Given the description of an element on the screen output the (x, y) to click on. 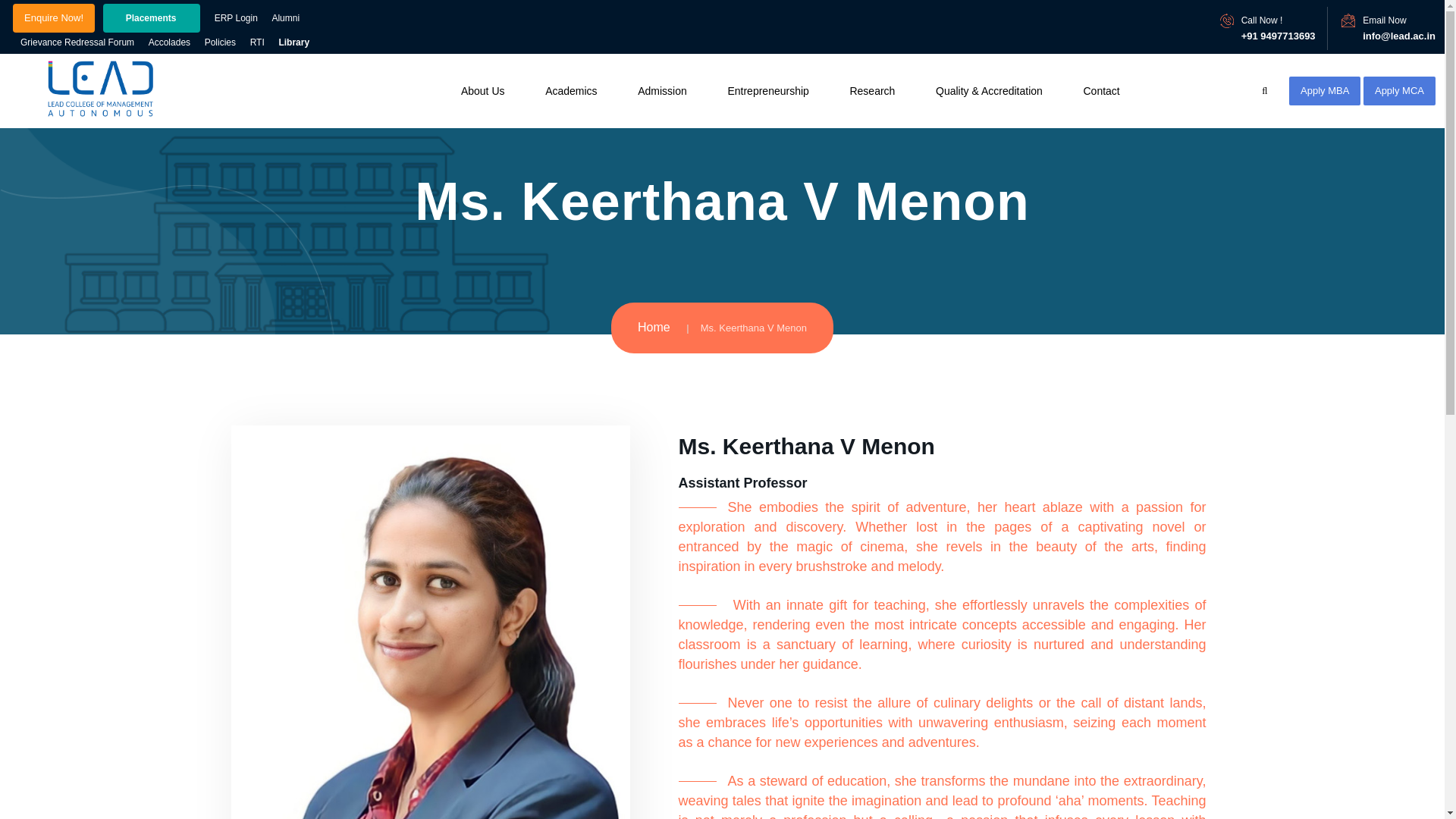
ERP Login (235, 17)
Policies (220, 42)
About Us (483, 90)
Library (293, 42)
Alumni (284, 17)
Placements      (151, 18)
Grievance Redressal Forum (76, 42)
Accolades (169, 42)
Library (293, 42)
Enquire Now! (53, 18)
